Given the description of an element on the screen output the (x, y) to click on. 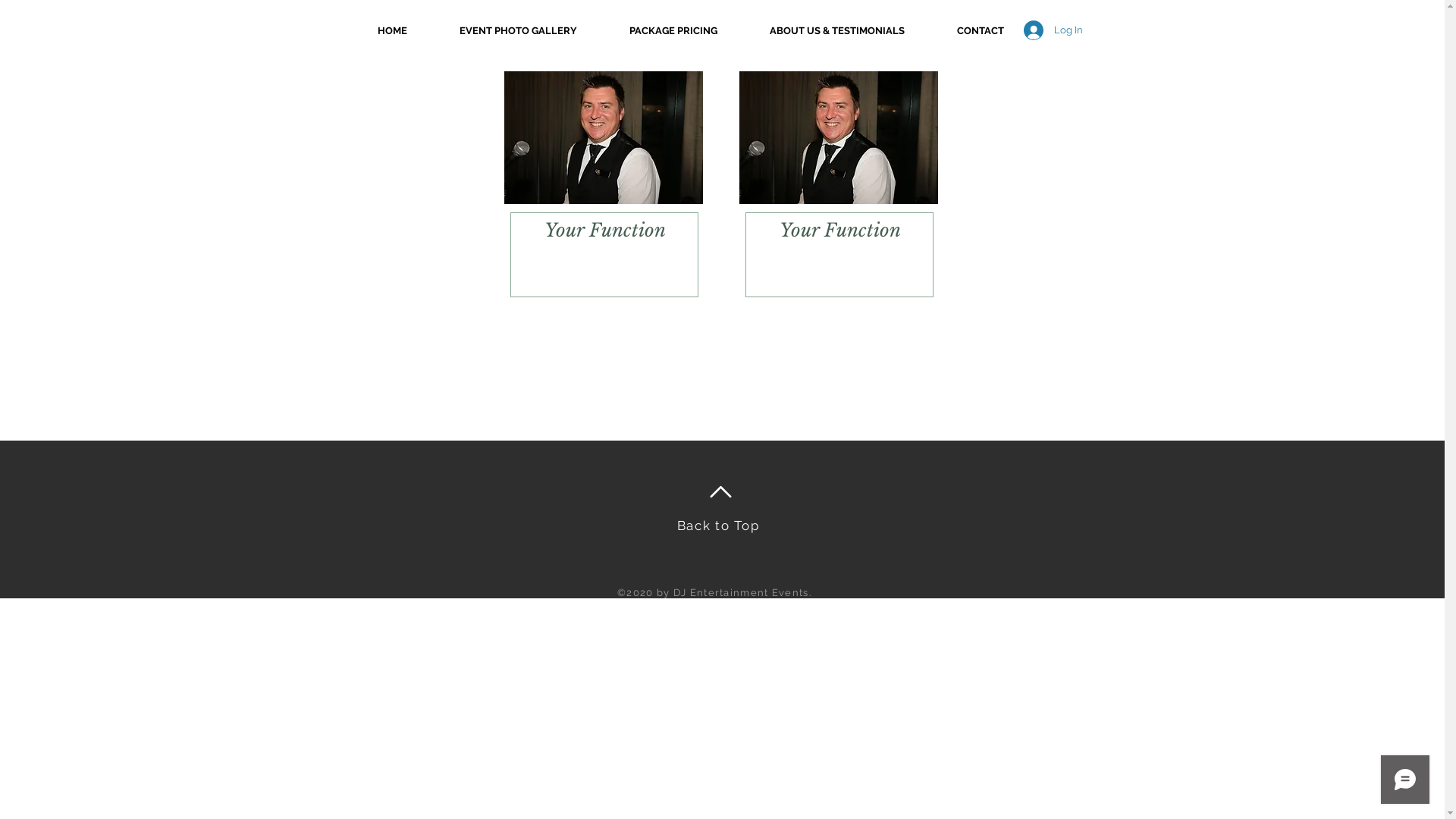
HOME Element type: text (391, 30)
EVENT PHOTO GALLERY Element type: text (518, 30)
PACKAGE PRICING Element type: text (673, 30)
Log In Element type: text (1053, 29)
ABOUT US & TESTIMONIALS Element type: text (836, 30)
CONTACT Element type: text (980, 30)
Back to Top Element type: text (718, 525)
